Given the description of an element on the screen output the (x, y) to click on. 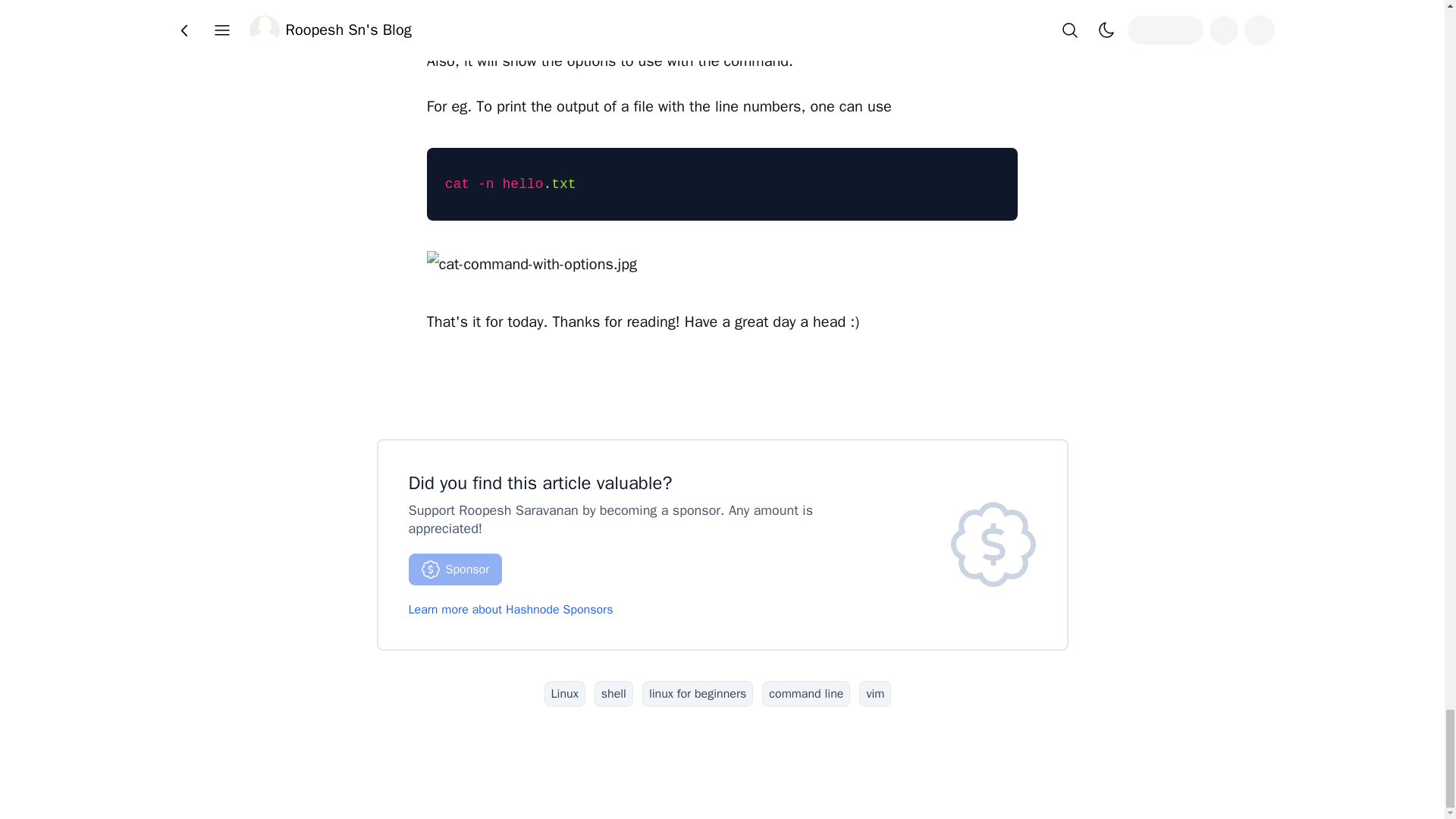
linux for beginners (697, 693)
vim (875, 693)
shell (613, 693)
Learn more about Hashnode Sponsors (509, 609)
Linux (564, 693)
Sponsor (454, 569)
command line (805, 693)
